Given the description of an element on the screen output the (x, y) to click on. 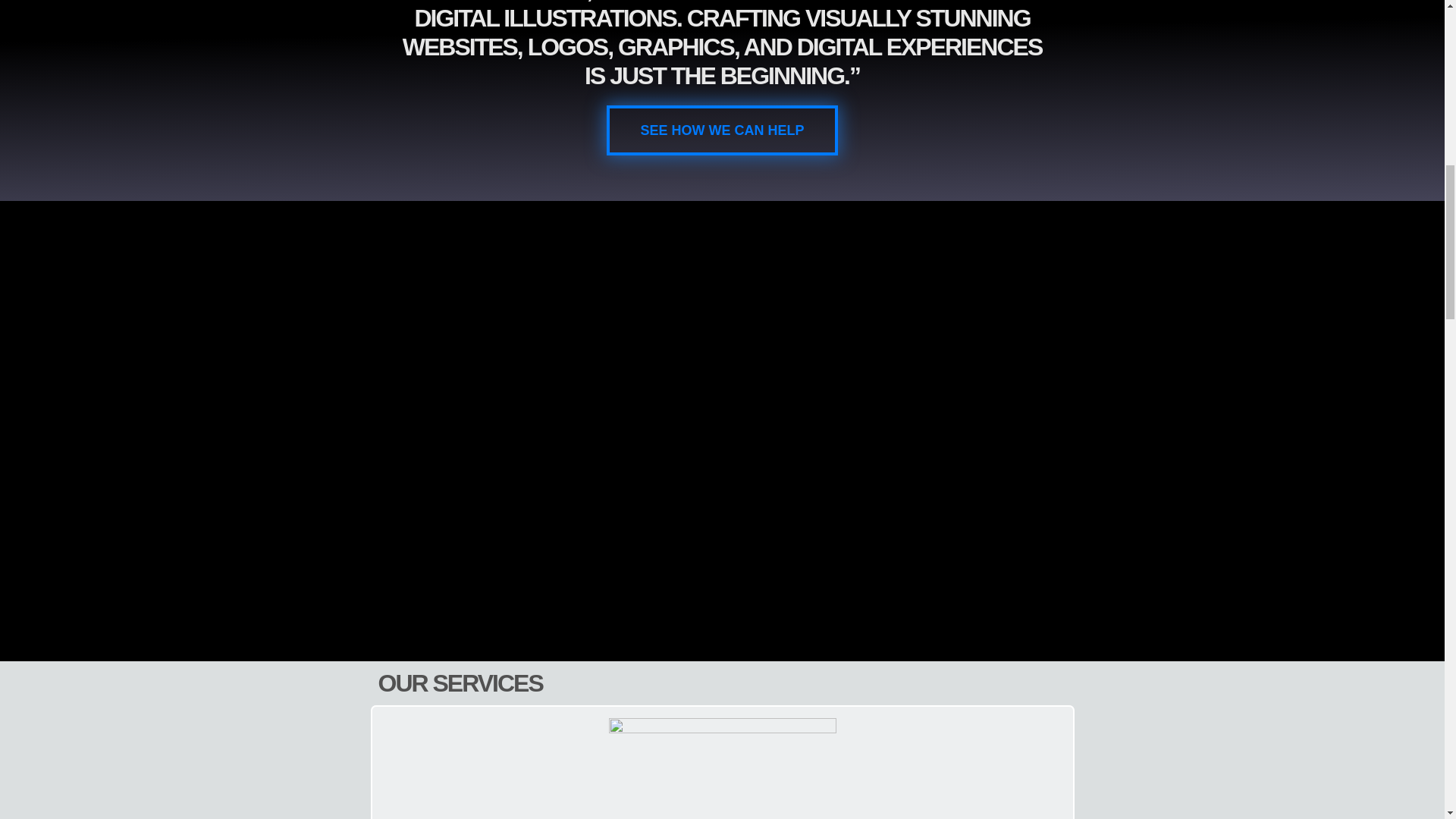
SEE HOW WE CAN HELP (722, 130)
